Given the description of an element on the screen output the (x, y) to click on. 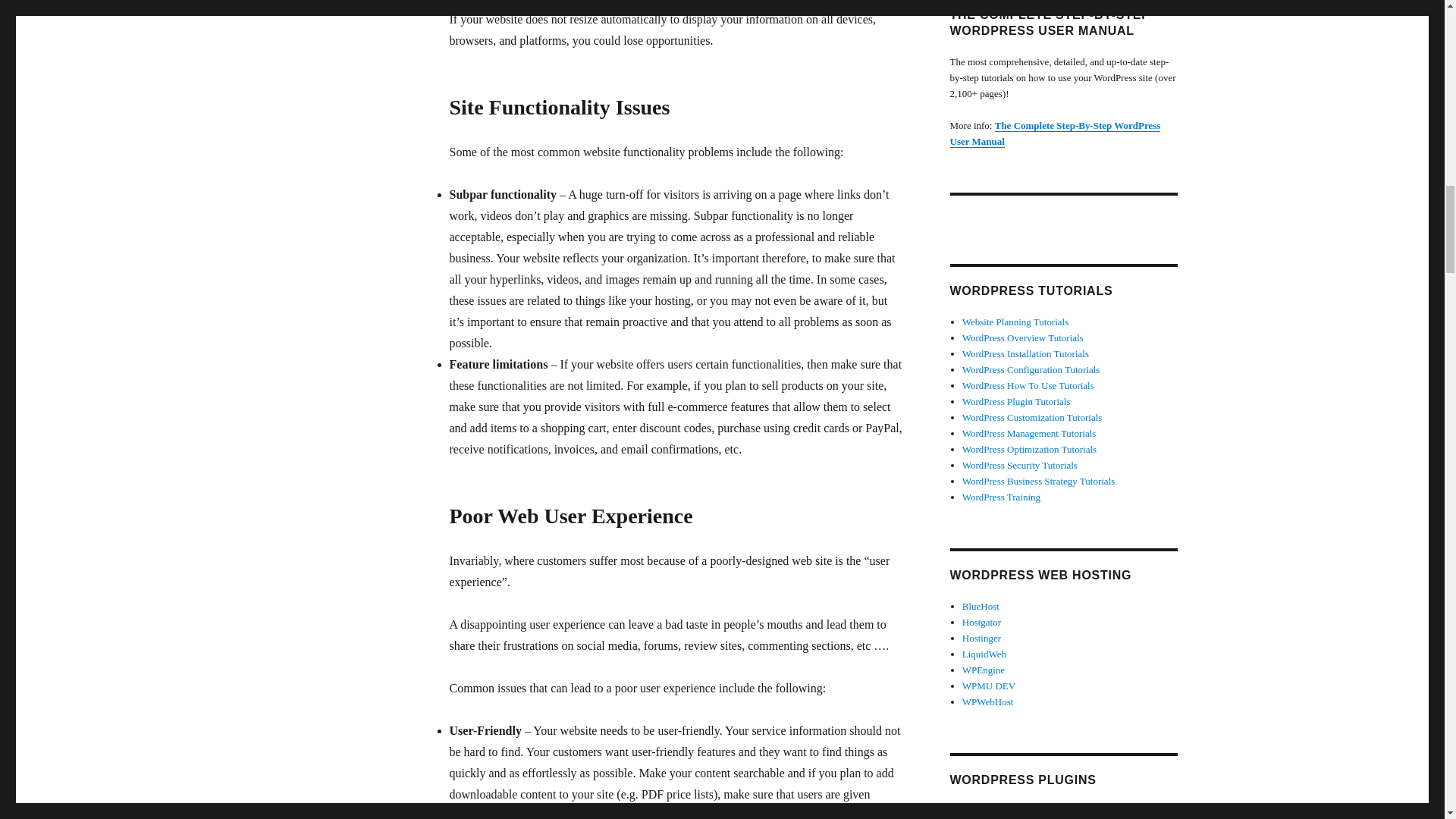
WPEngine (983, 669)
WordPress Managed Hosting (988, 685)
LiquidWeb (984, 654)
Hostgator (981, 622)
Add a Google map to your WordPress website! (1013, 810)
WPWebHost (987, 701)
BlueHost (980, 605)
WordPress Hosting (981, 637)
